Given the description of an element on the screen output the (x, y) to click on. 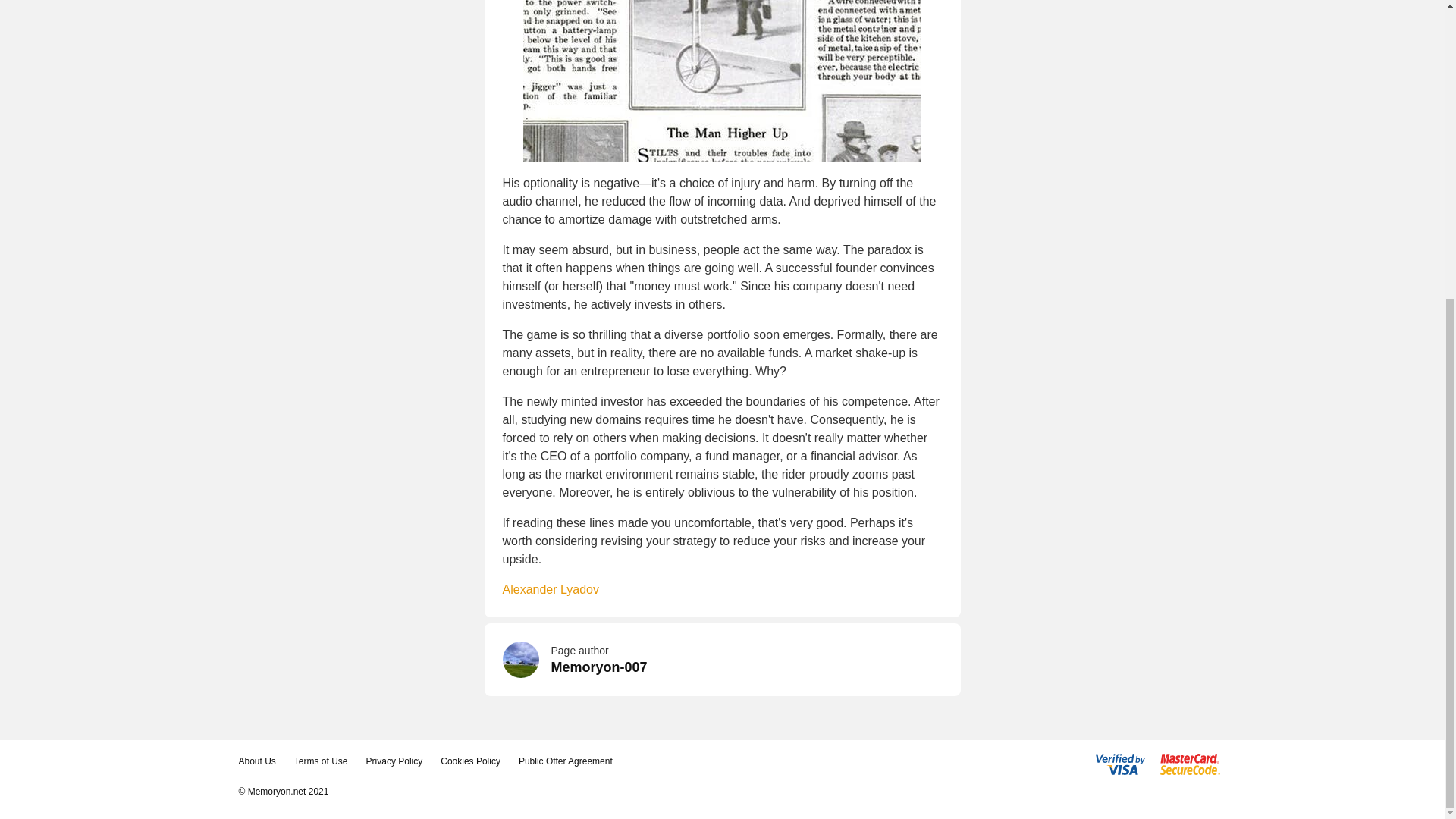
Terms of Use (320, 761)
Privacy Policy (394, 761)
Public Offer Agreement (565, 761)
Cookies Policy (470, 761)
About Us (256, 761)
Alexander Lyadov (550, 589)
